Given the description of an element on the screen output the (x, y) to click on. 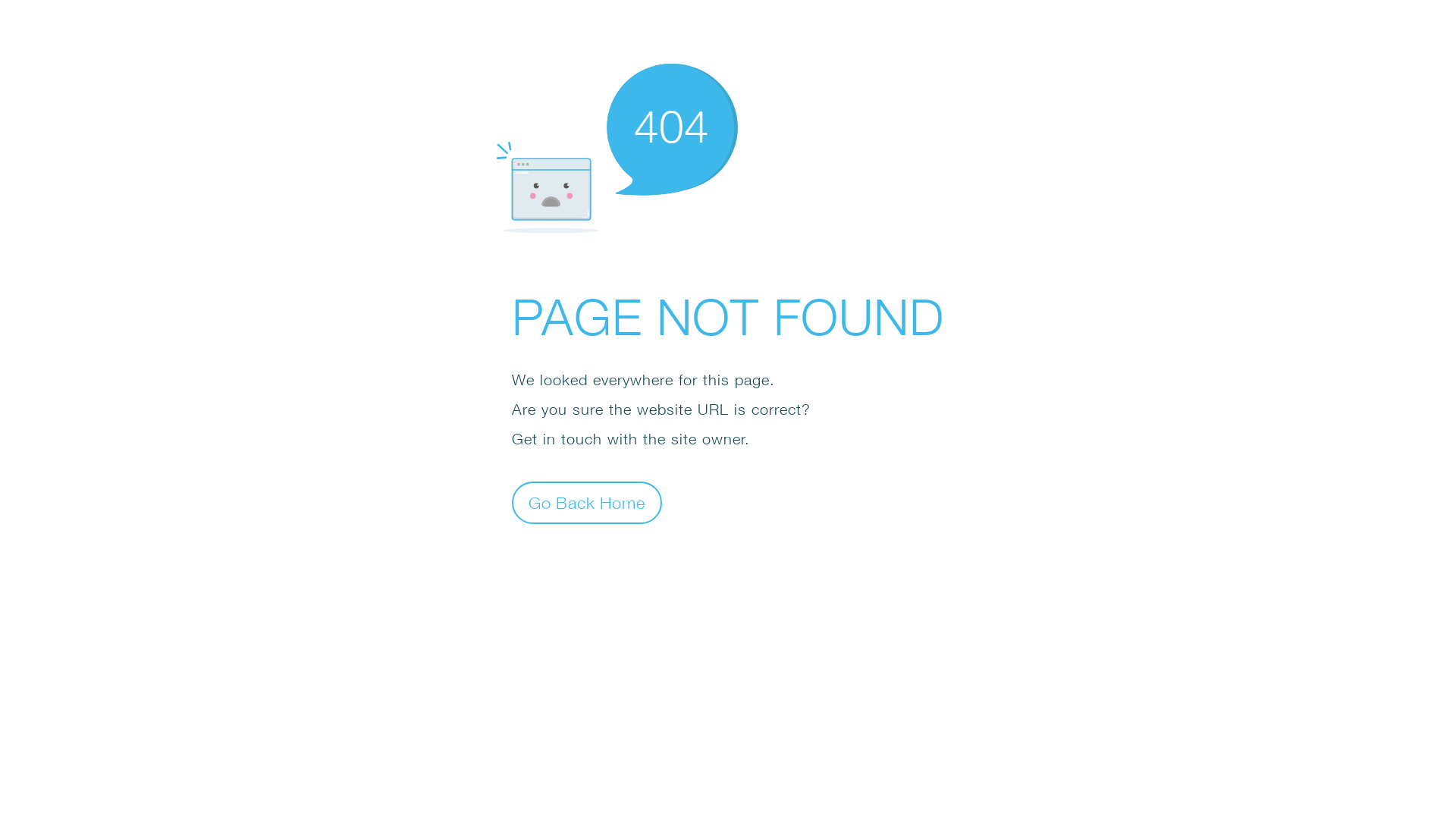
Go Back Home Element type: text (586, 502)
